Given the description of an element on the screen output the (x, y) to click on. 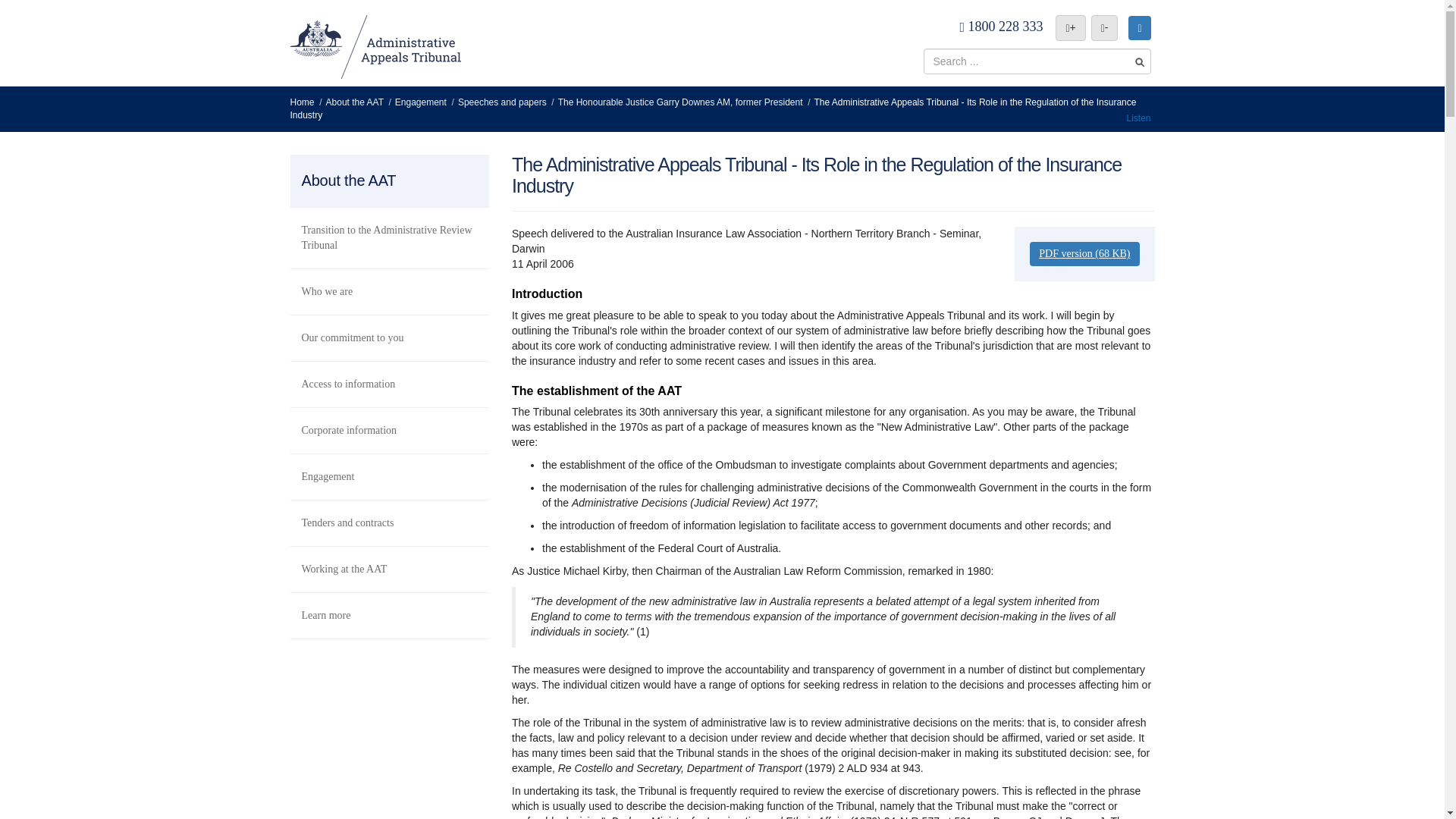
Listen (1137, 118)
Our commitment to you (1104, 27)
Engagement (389, 338)
Working at the AAT (416, 102)
Who we are (389, 569)
Engagement (389, 292)
Print this page (389, 477)
Speeches and papers (1139, 27)
Listen to this page using ReadSpeaker (499, 102)
Corporate information (1137, 118)
Learn more (389, 430)
Access to information (389, 615)
About the AAT (389, 384)
Home (351, 102)
